Given the description of an element on the screen output the (x, y) to click on. 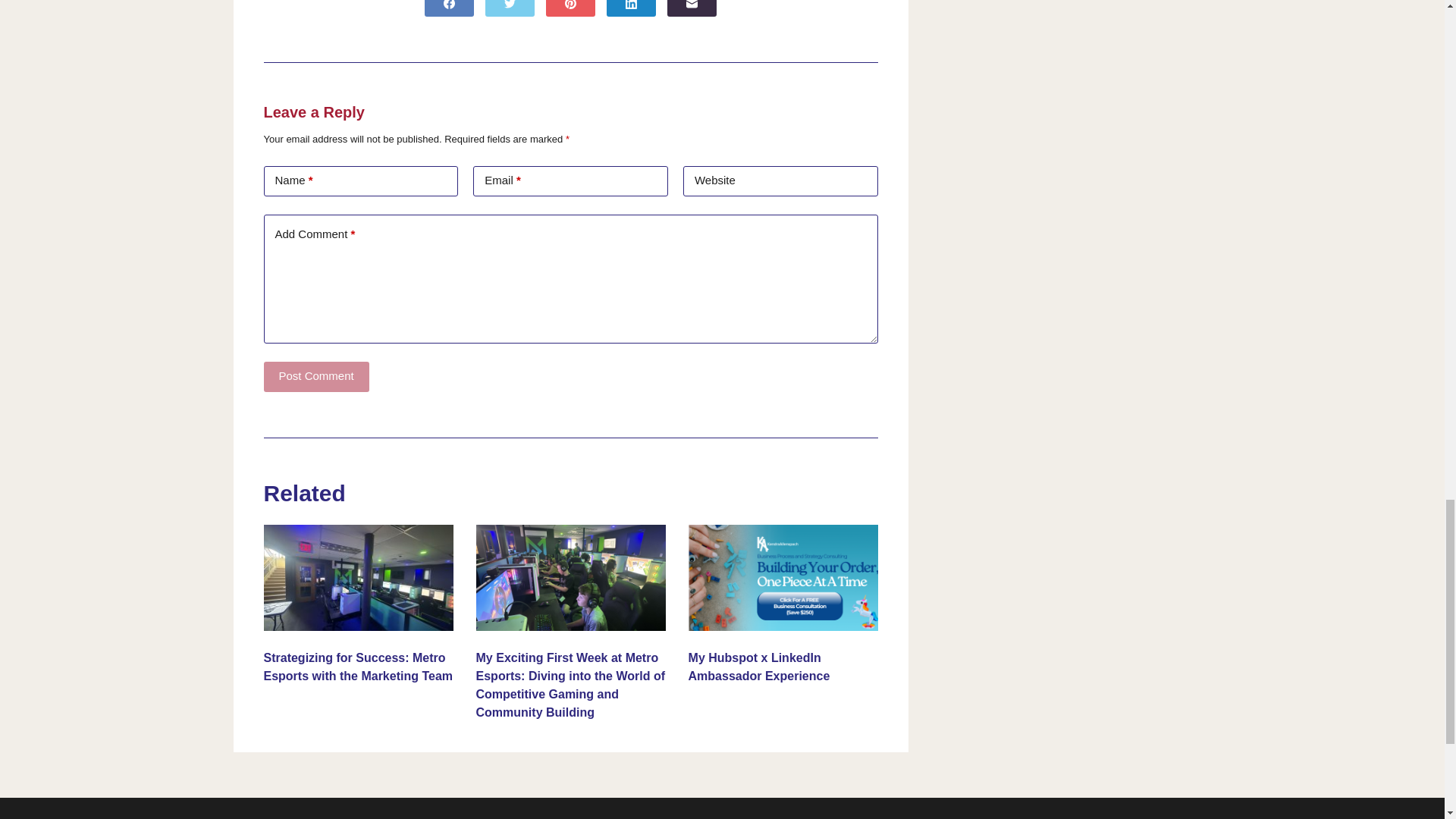
Post Comment (316, 376)
